Given the description of an element on the screen output the (x, y) to click on. 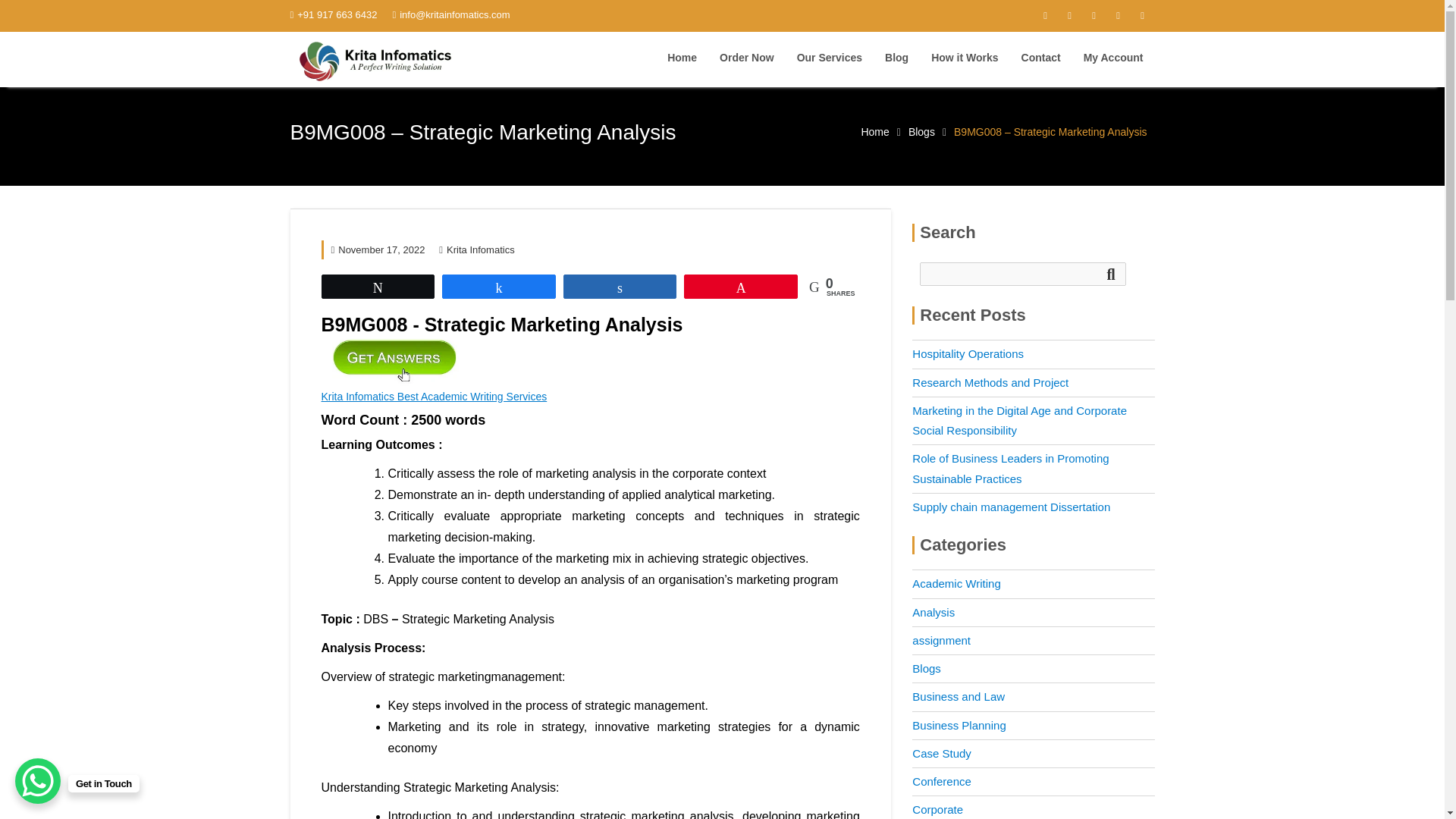
Facebook (1044, 15)
Blog (896, 57)
Linkedin (1141, 15)
Contact (1040, 57)
Home (681, 57)
Blogs (921, 131)
Twitter (1069, 15)
Pinterest (1117, 15)
My Account (1112, 57)
Our Services (829, 57)
Home (874, 131)
Order Now (746, 57)
November 17, 2022 (377, 249)
Instagram (1093, 15)
Krita Infomatics (476, 249)
